Given the description of an element on the screen output the (x, y) to click on. 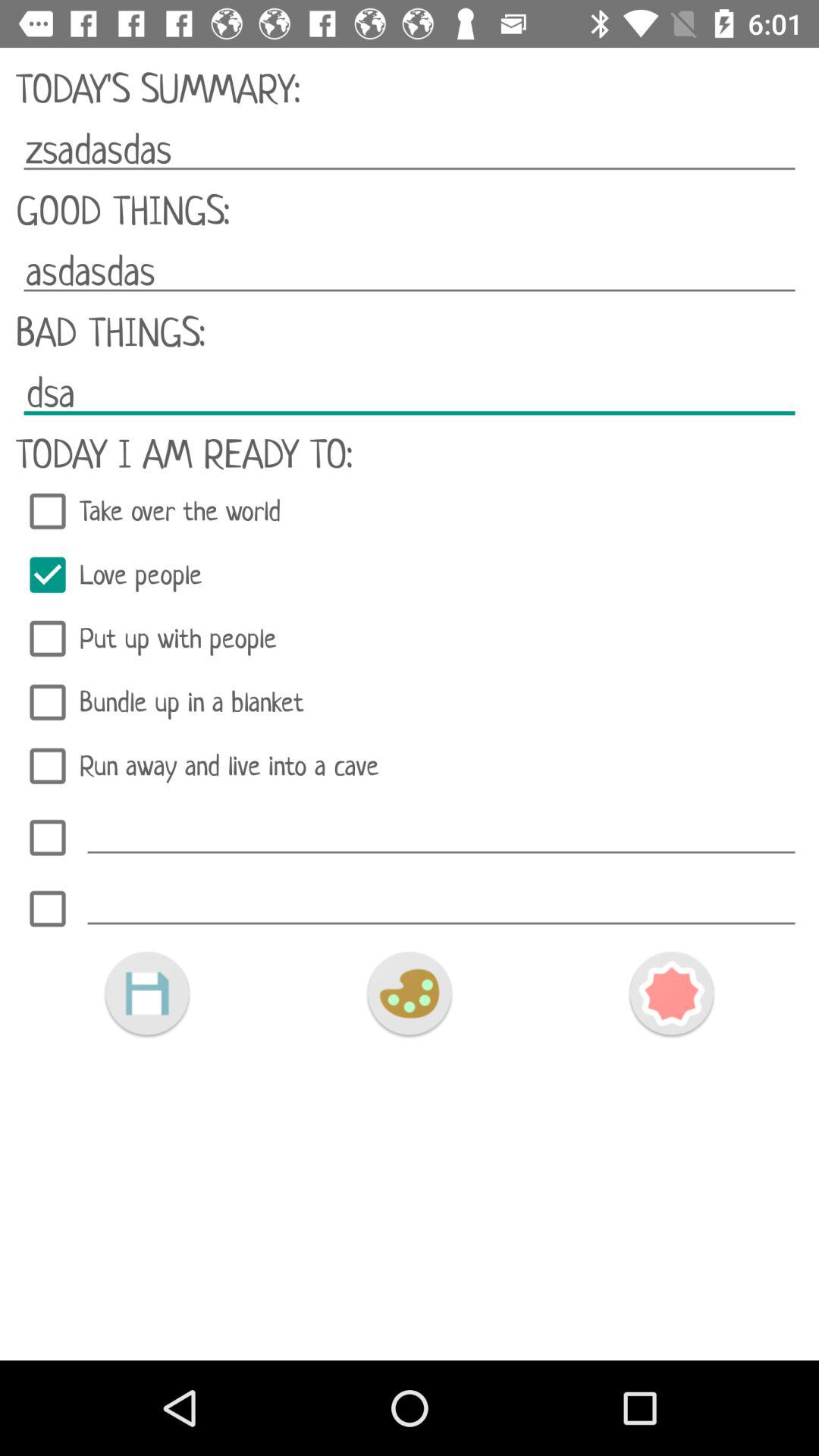
launch icon below the good things: icon (409, 271)
